Given the description of an element on the screen output the (x, y) to click on. 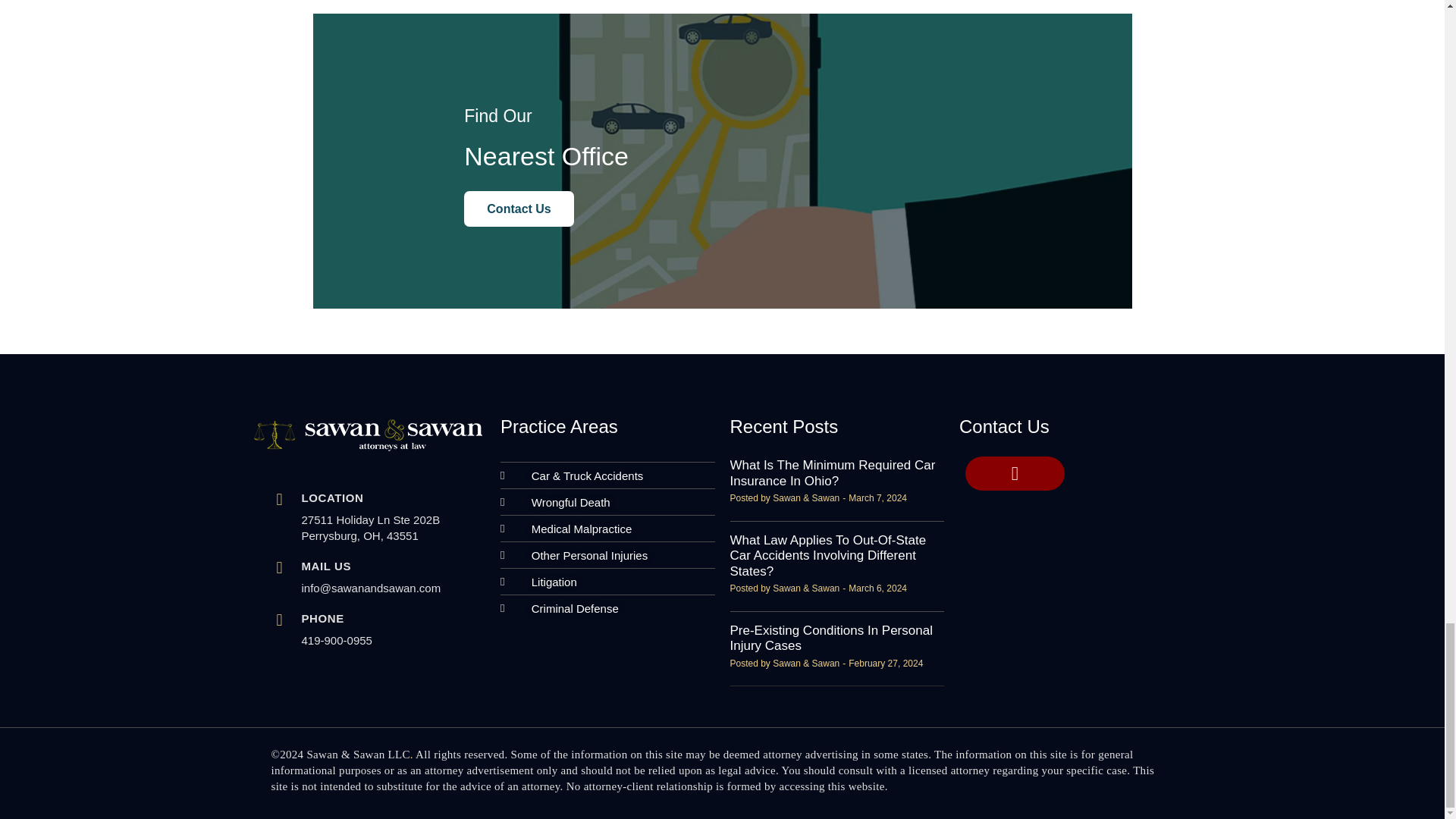
2024-03-06T11:18:42-05:00 (877, 588)
Contact Us (518, 208)
2024-03-07T12:39:51-05:00 (877, 498)
2024-02-27T13:26:06-05:00 (885, 663)
419-900-0955 (336, 640)
